Given the description of an element on the screen output the (x, y) to click on. 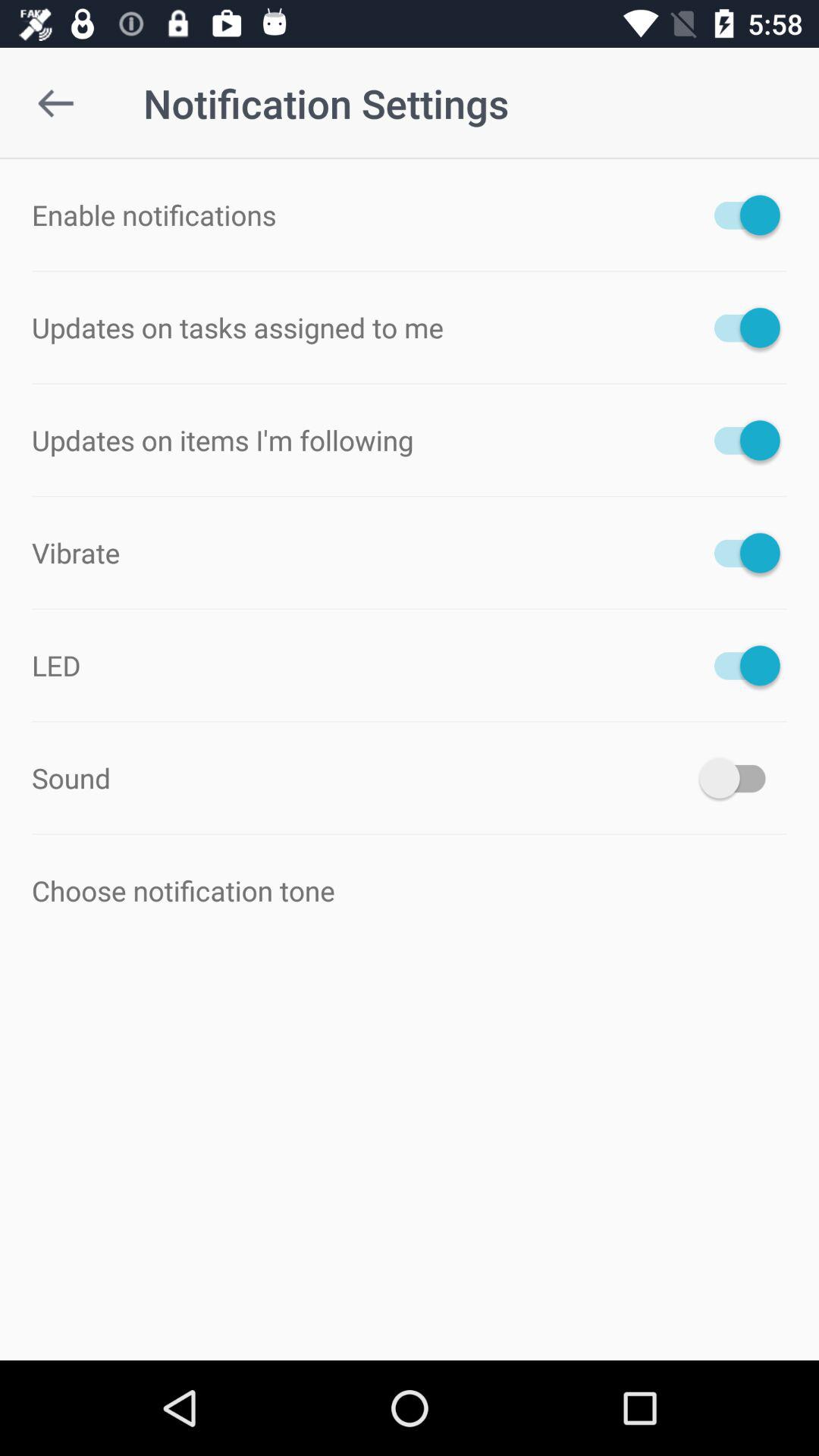
select to on option (739, 327)
